Given the description of an element on the screen output the (x, y) to click on. 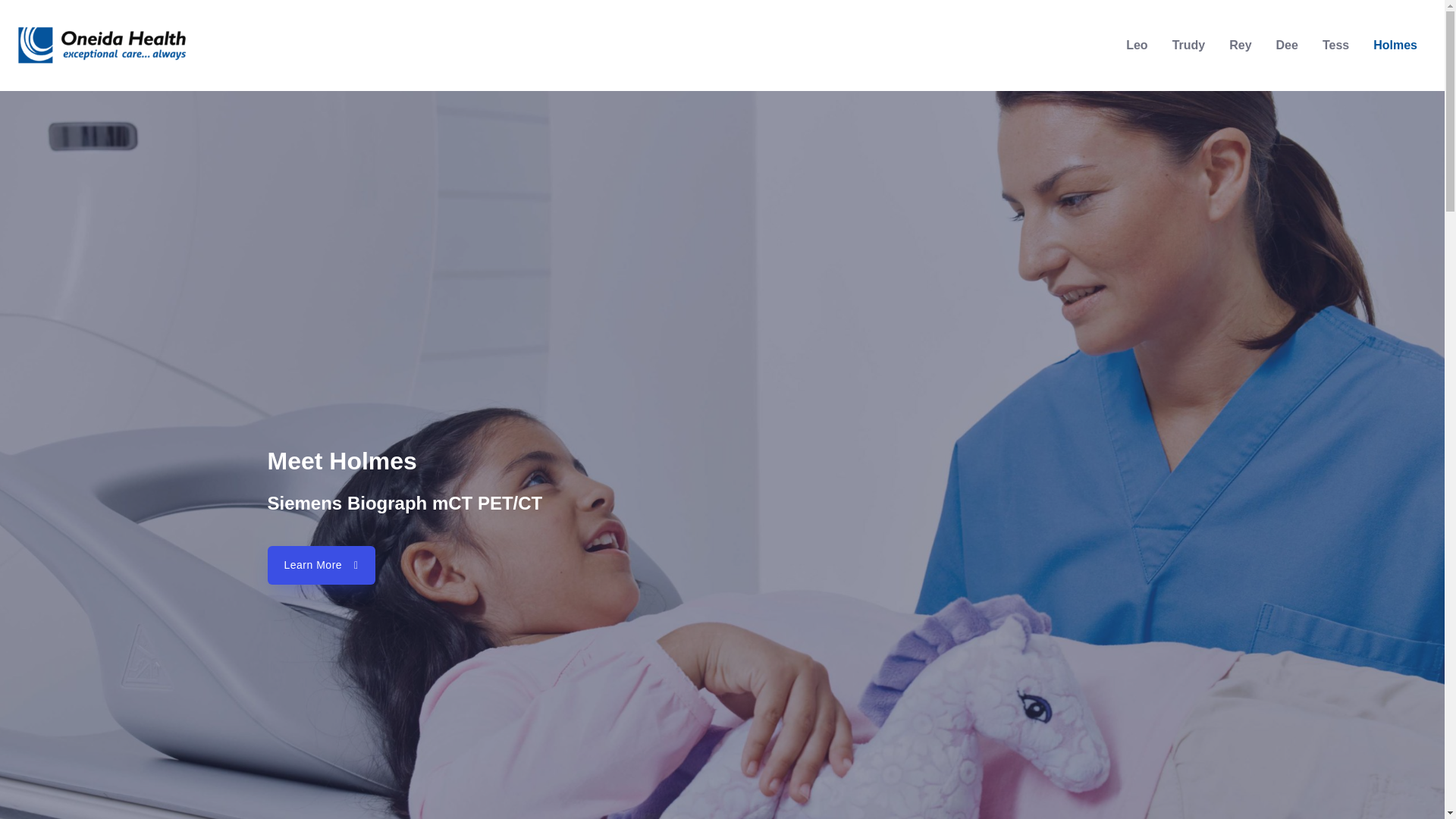
Tess (1335, 45)
Leo (1135, 45)
Rey (1240, 45)
Holmes (1395, 45)
Learn More (320, 565)
Dee (1286, 45)
Trudy (1188, 45)
